Given the description of an element on the screen output the (x, y) to click on. 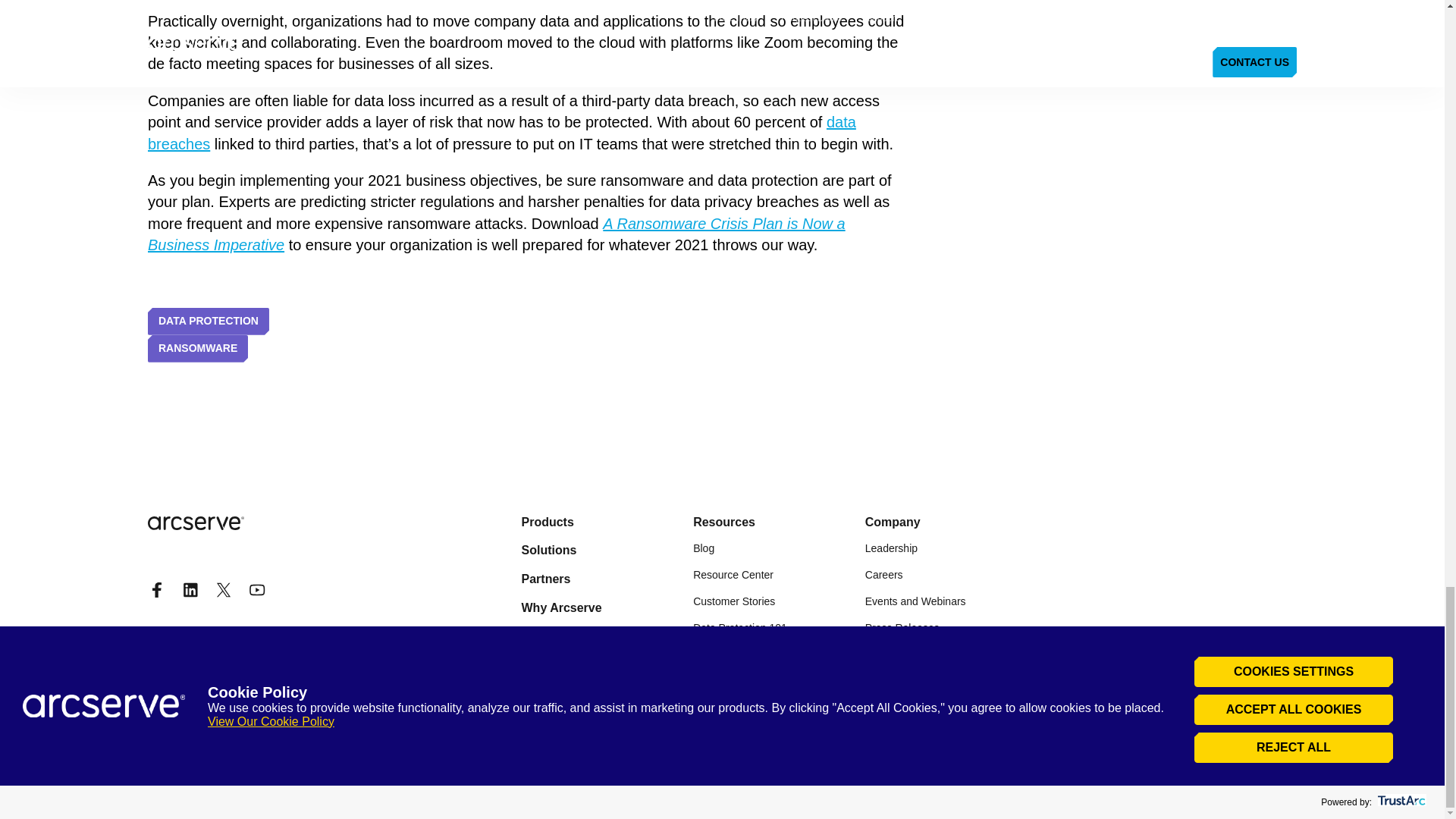
Facebook (156, 589)
